Given the description of an element on the screen output the (x, y) to click on. 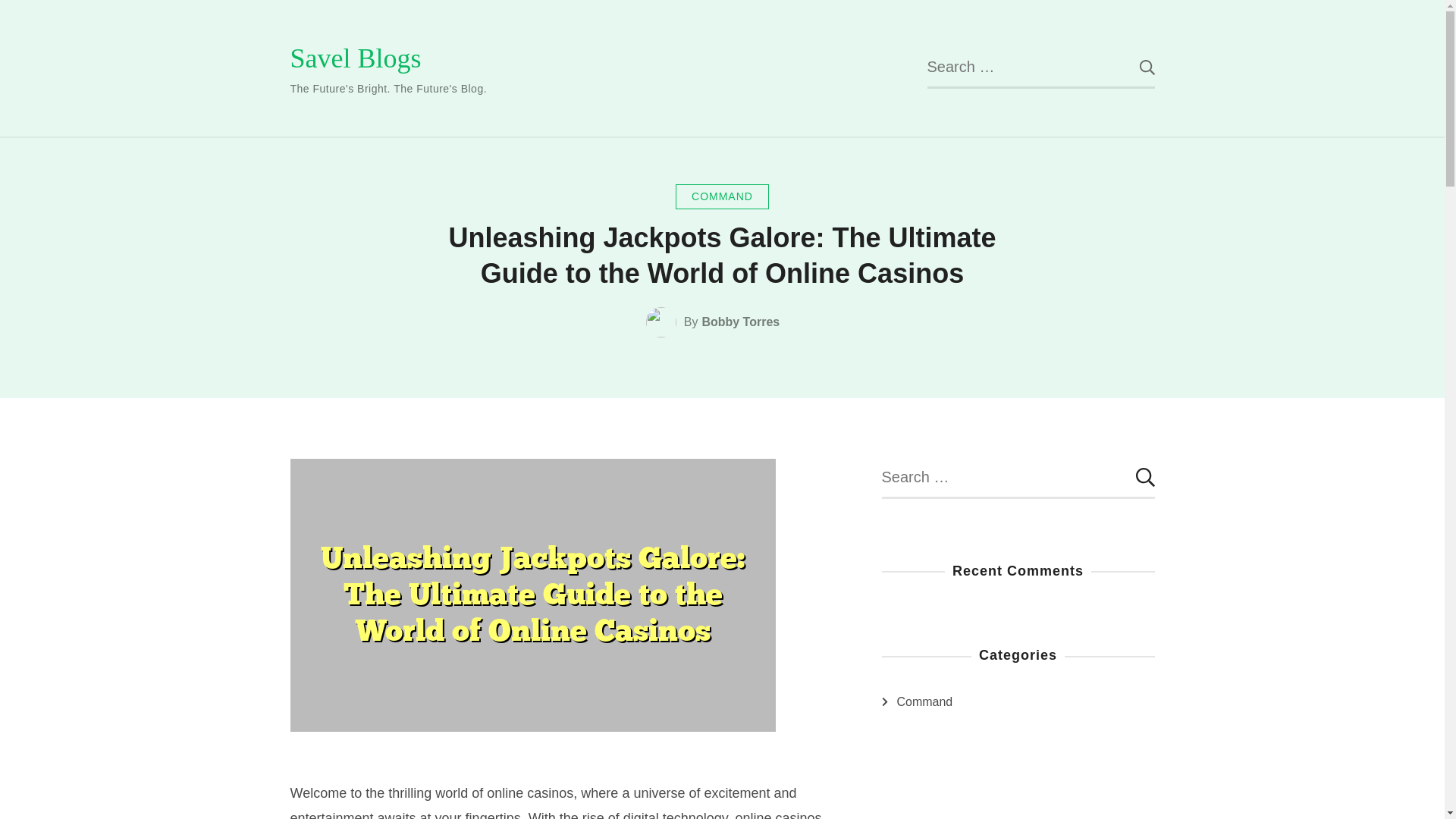
Search (1135, 477)
Savel Blogs (354, 58)
Search (1135, 67)
Search (1135, 477)
Search (1135, 67)
COMMAND (721, 196)
Bobby Torres (739, 322)
Search (1135, 477)
Command (924, 702)
Search (1135, 67)
